Given the description of an element on the screen output the (x, y) to click on. 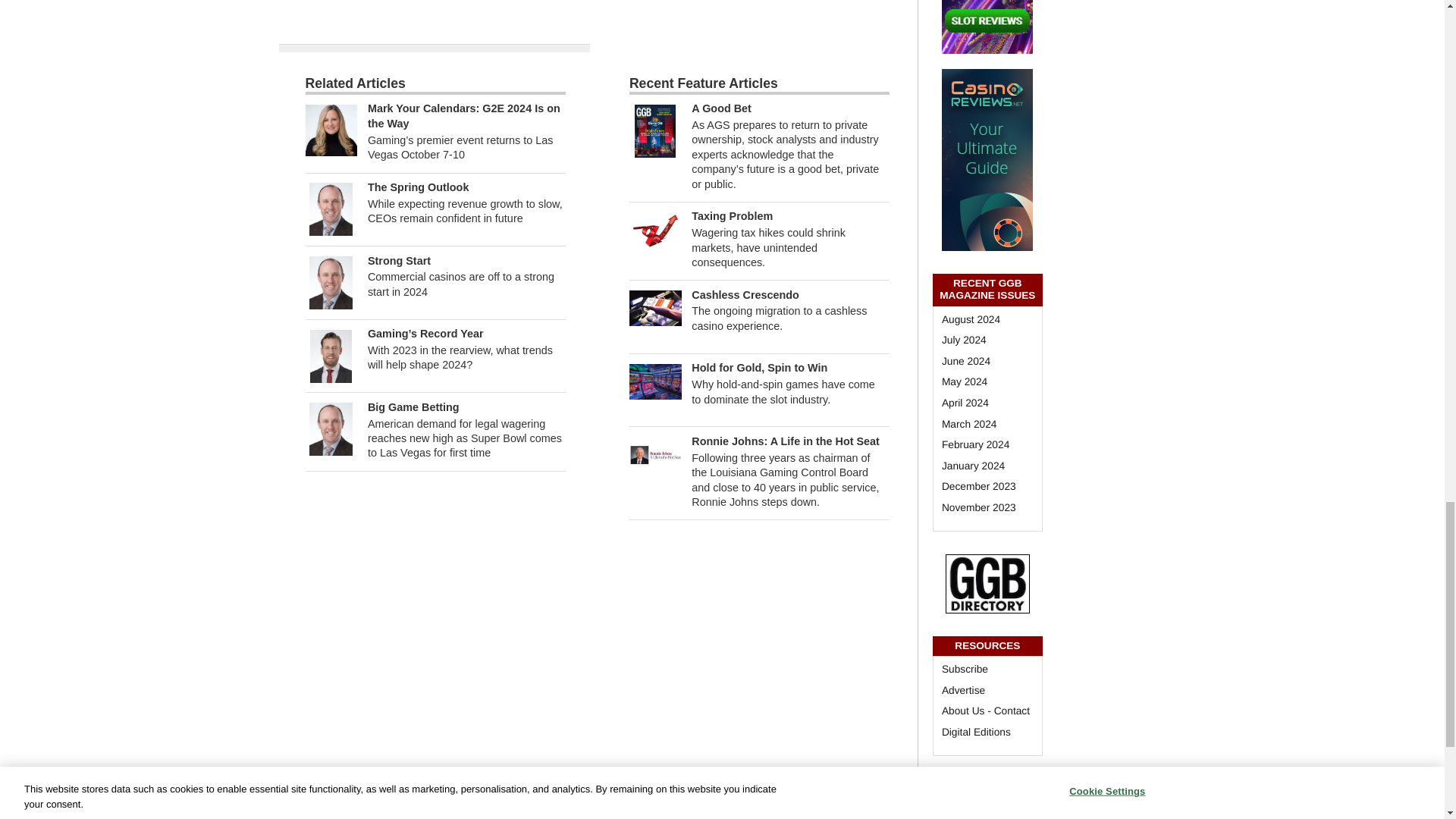
The Spring Outlook (330, 209)
Mark Your Calendars: G2E 2024 Is on the Way (330, 129)
The Spring Outlook (418, 186)
Mark Your Calendars: G2E 2024 Is on the Way (464, 115)
Strong Start (330, 282)
